Given the description of an element on the screen output the (x, y) to click on. 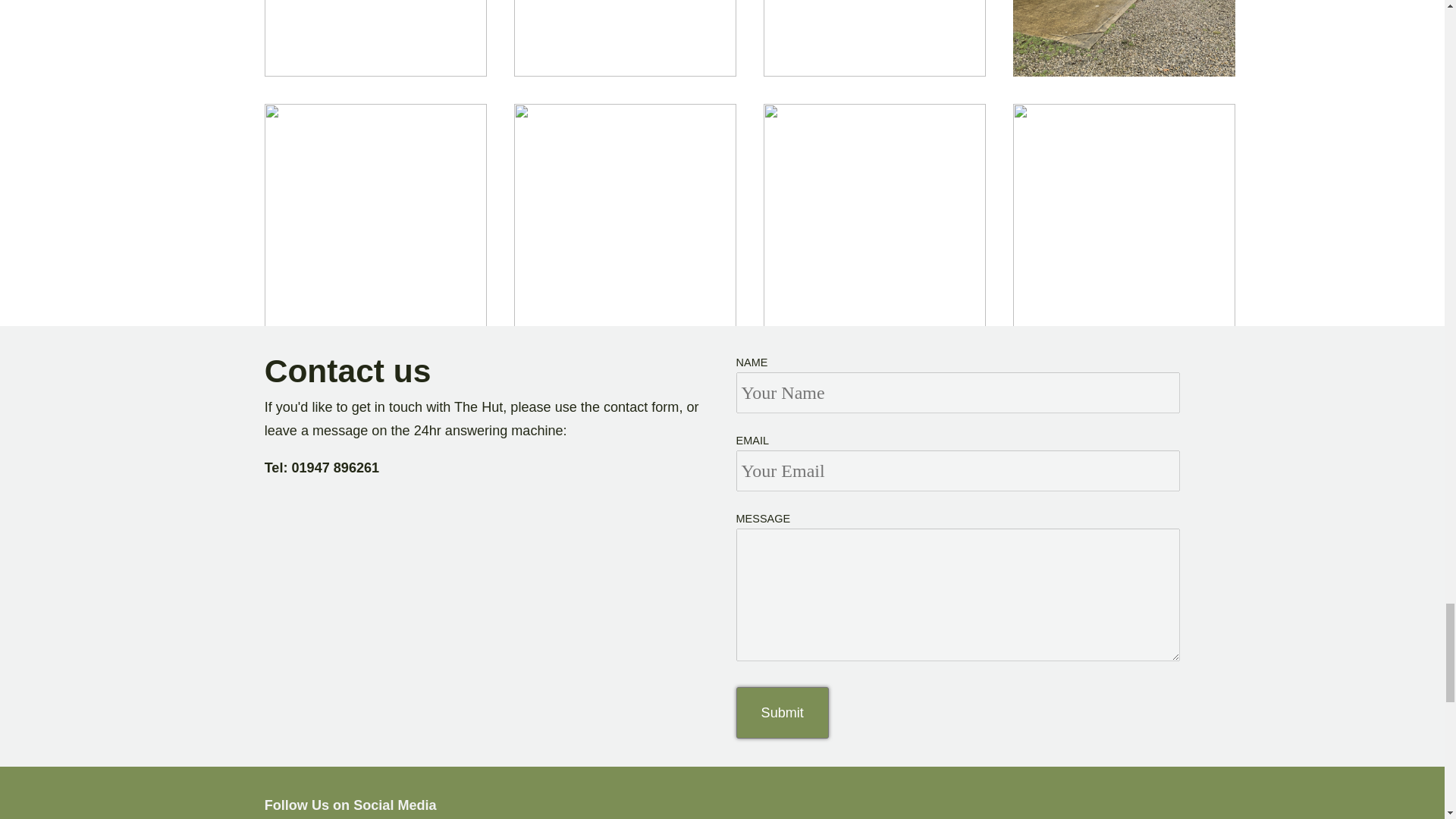
Submit (782, 713)
